Given the description of an element on the screen output the (x, y) to click on. 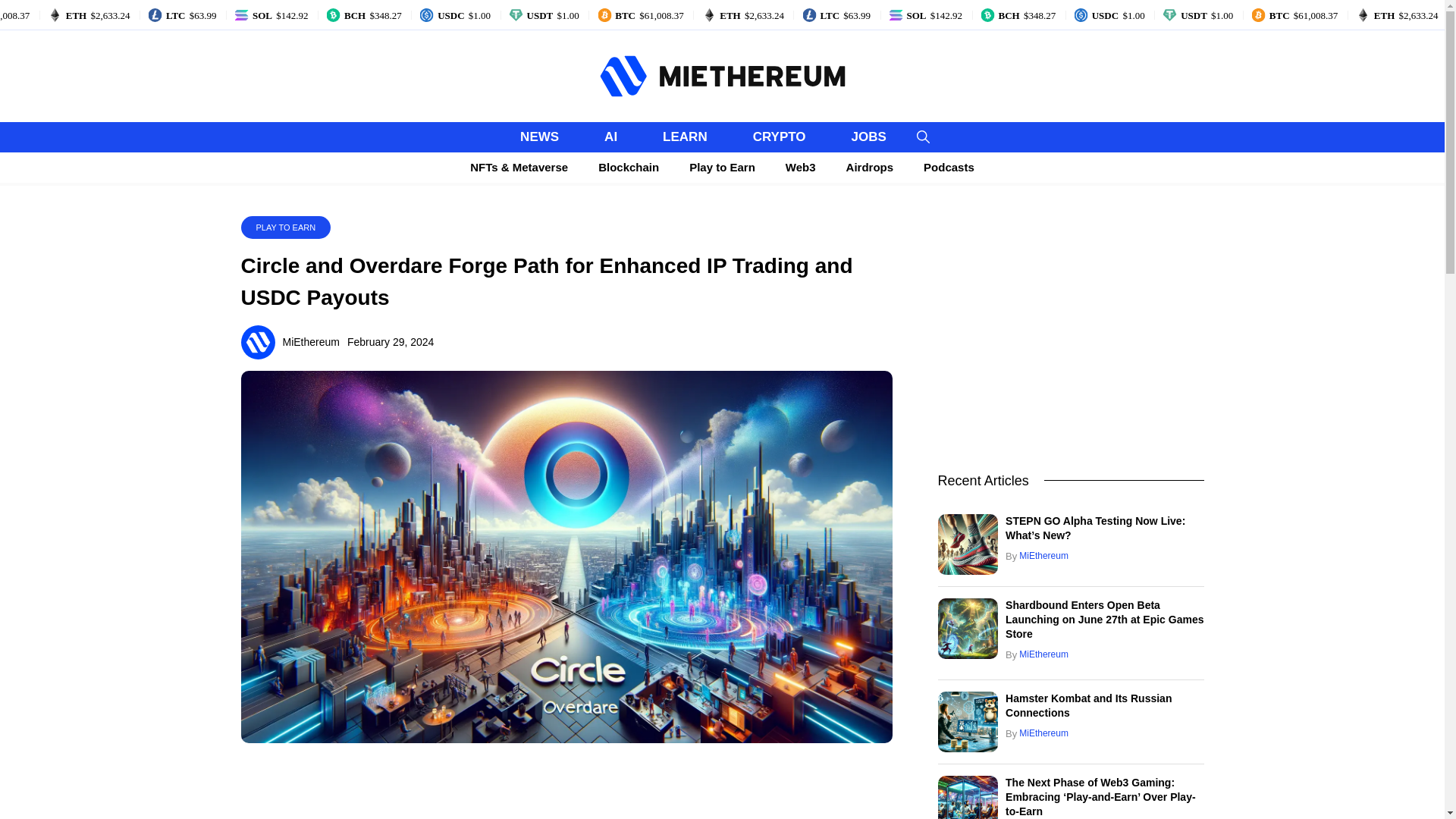
Advertisement (1070, 322)
Podcasts (949, 167)
Web3 (800, 167)
Blockchain (628, 167)
AI (610, 136)
Airdrops (869, 167)
PLAY TO EARN (285, 226)
NEWS (539, 136)
Advertisement (566, 786)
February 29, 2024 (390, 341)
